Given the description of an element on the screen output the (x, y) to click on. 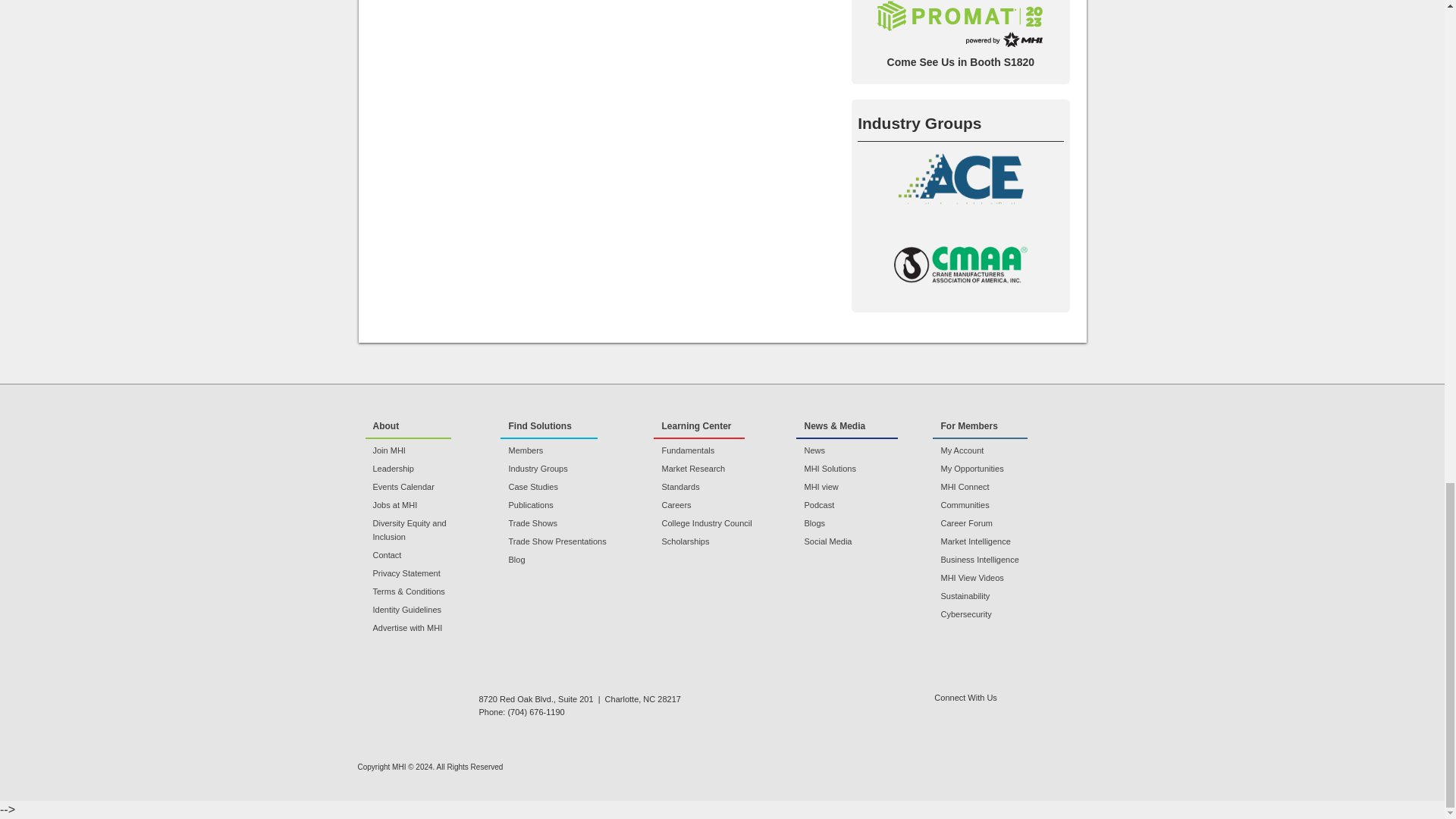
Diversity Equity and Inclusion (424, 529)
Join MHI (424, 450)
Like MHI on Facebook (980, 715)
Follow the MHI channel on YouTube (1000, 715)
Read Our Blog (1038, 715)
Join the MHI group on LinkedIn (941, 715)
Events Calendar (424, 486)
About (408, 426)
Leadership (424, 468)
Follow MHI on Instagram (1076, 715)
